Given the description of an element on the screen output the (x, y) to click on. 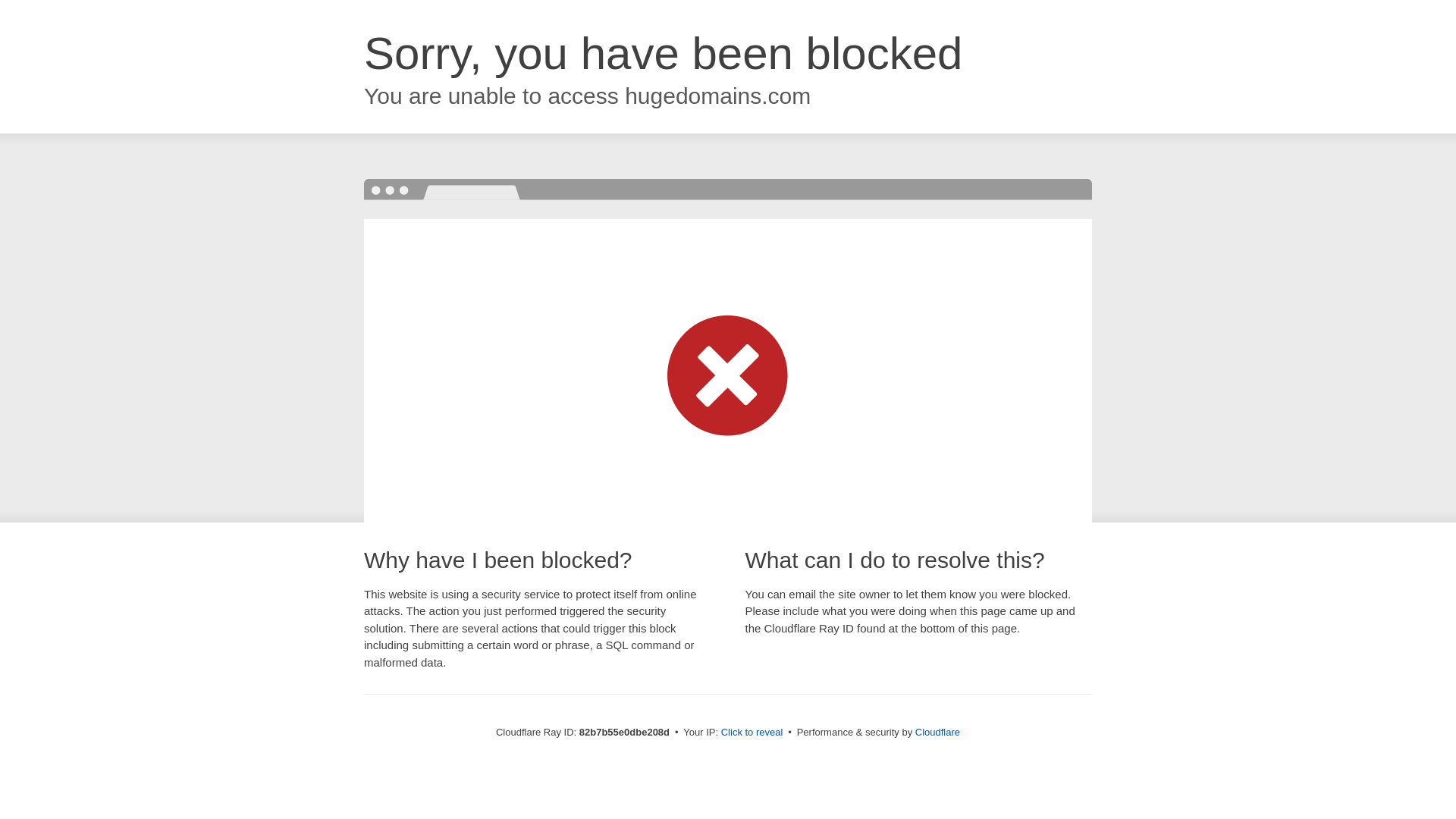
Click to reveal Element type: text (752, 732)
Cloudflare Element type: text (937, 731)
